Given the description of an element on the screen output the (x, y) to click on. 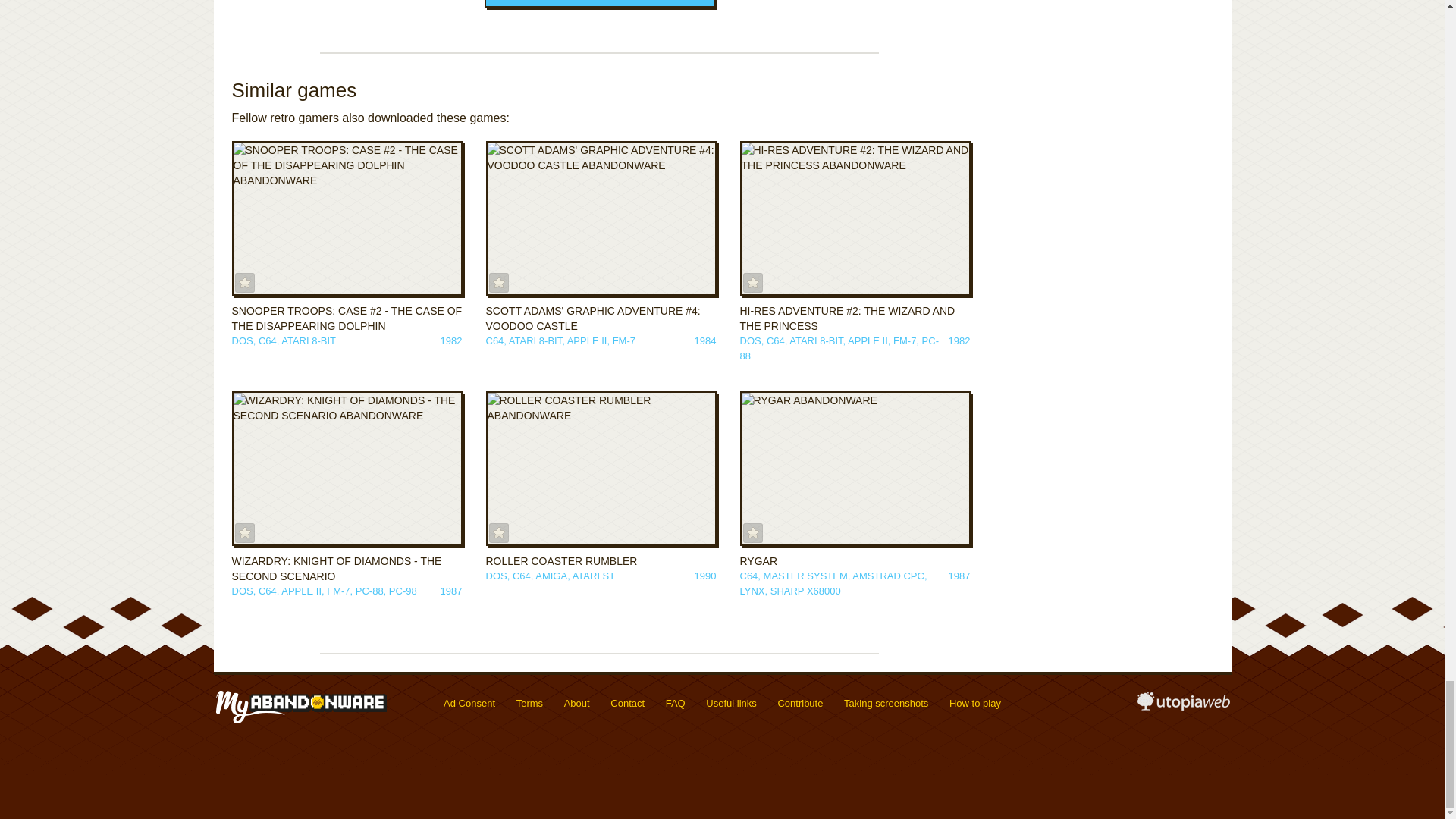
Visit utopiaweb website (1183, 706)
